Given the description of an element on the screen output the (x, y) to click on. 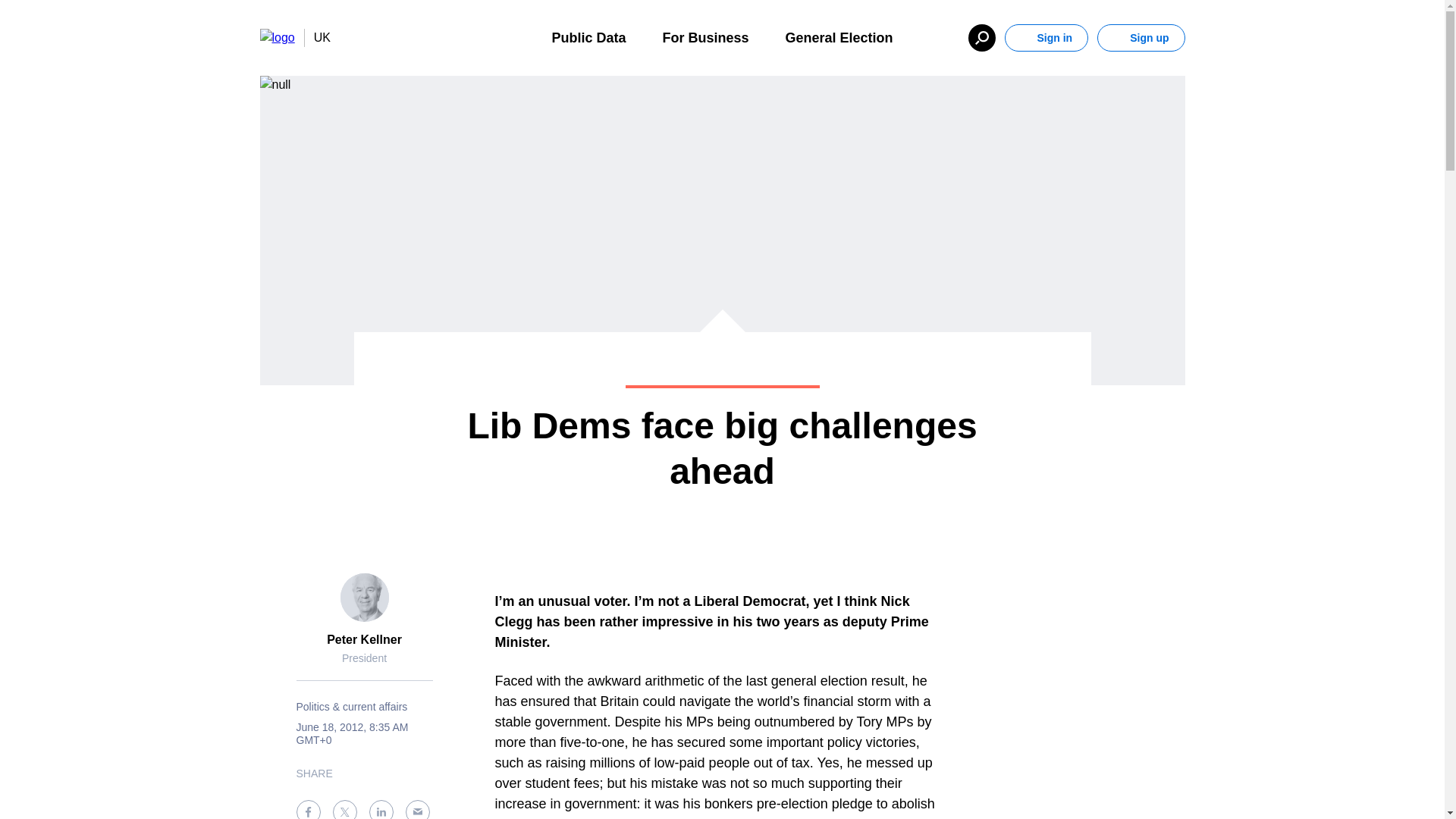
Sign in (1045, 37)
General Election (839, 37)
UK (317, 37)
Public Data (588, 37)
For Business (705, 37)
